Given the description of an element on the screen output the (x, y) to click on. 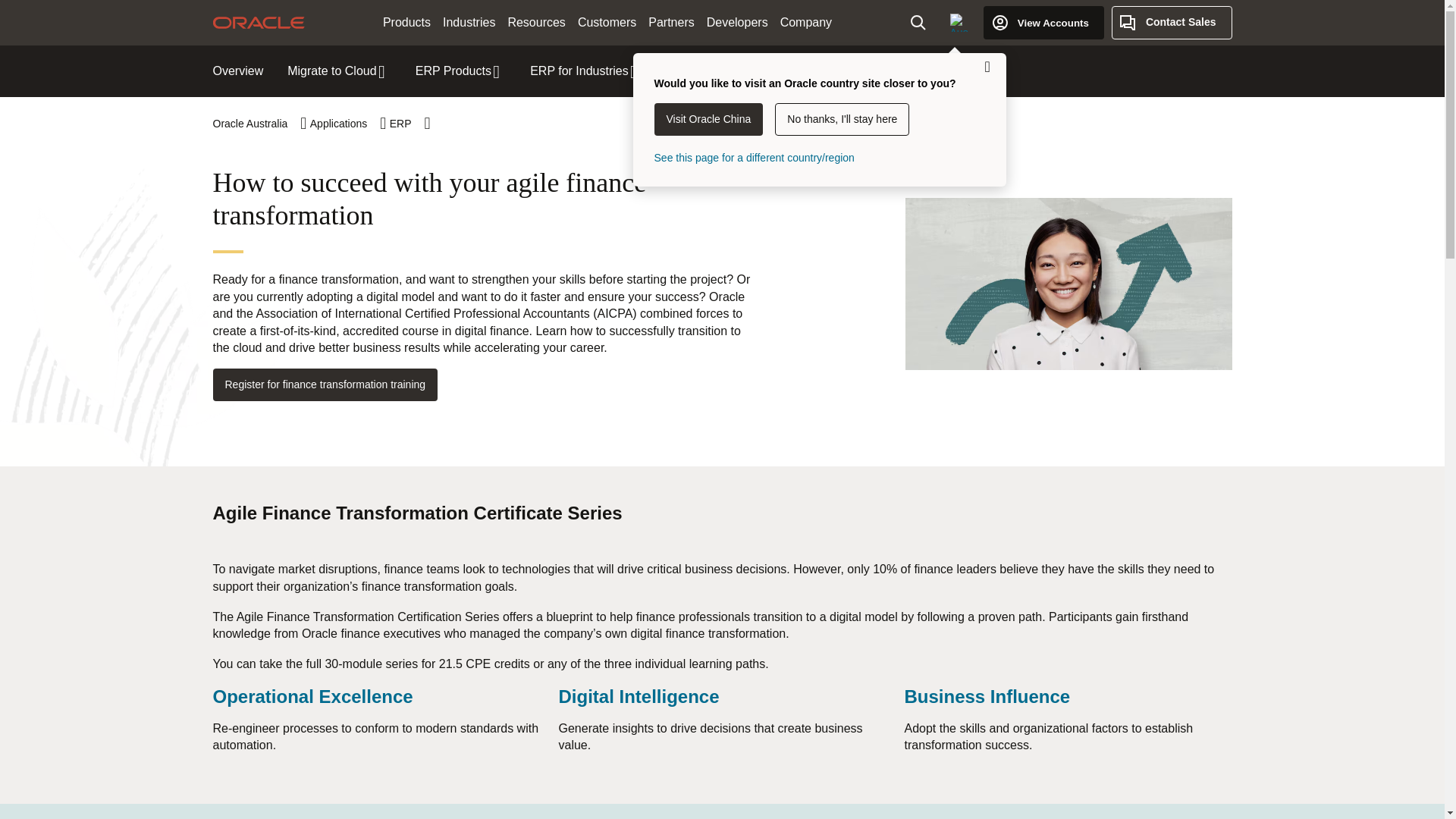
View Accounts (1043, 22)
Contact Sales (1171, 22)
Partners (671, 22)
Country (958, 22)
Resources (535, 22)
Visit Oracle China (707, 119)
Developers (737, 22)
Company (806, 22)
Products (406, 22)
Contact Sales (1171, 22)
No thanks, I'll stay here (841, 119)
Customers (607, 22)
